Given the description of an element on the screen output the (x, y) to click on. 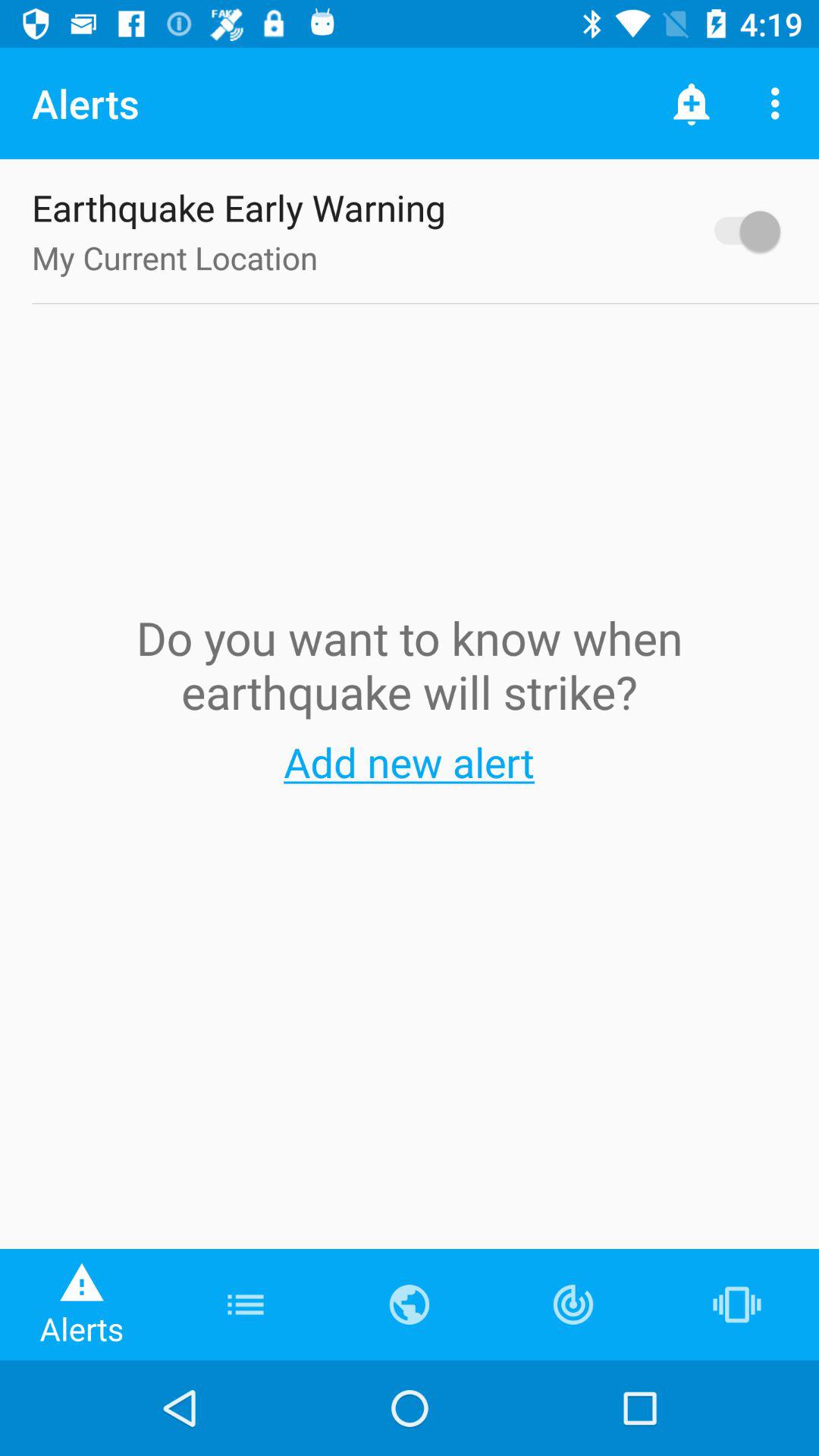
turn on the icon to the right of the earthquake early warning (739, 231)
